Given the description of an element on the screen output the (x, y) to click on. 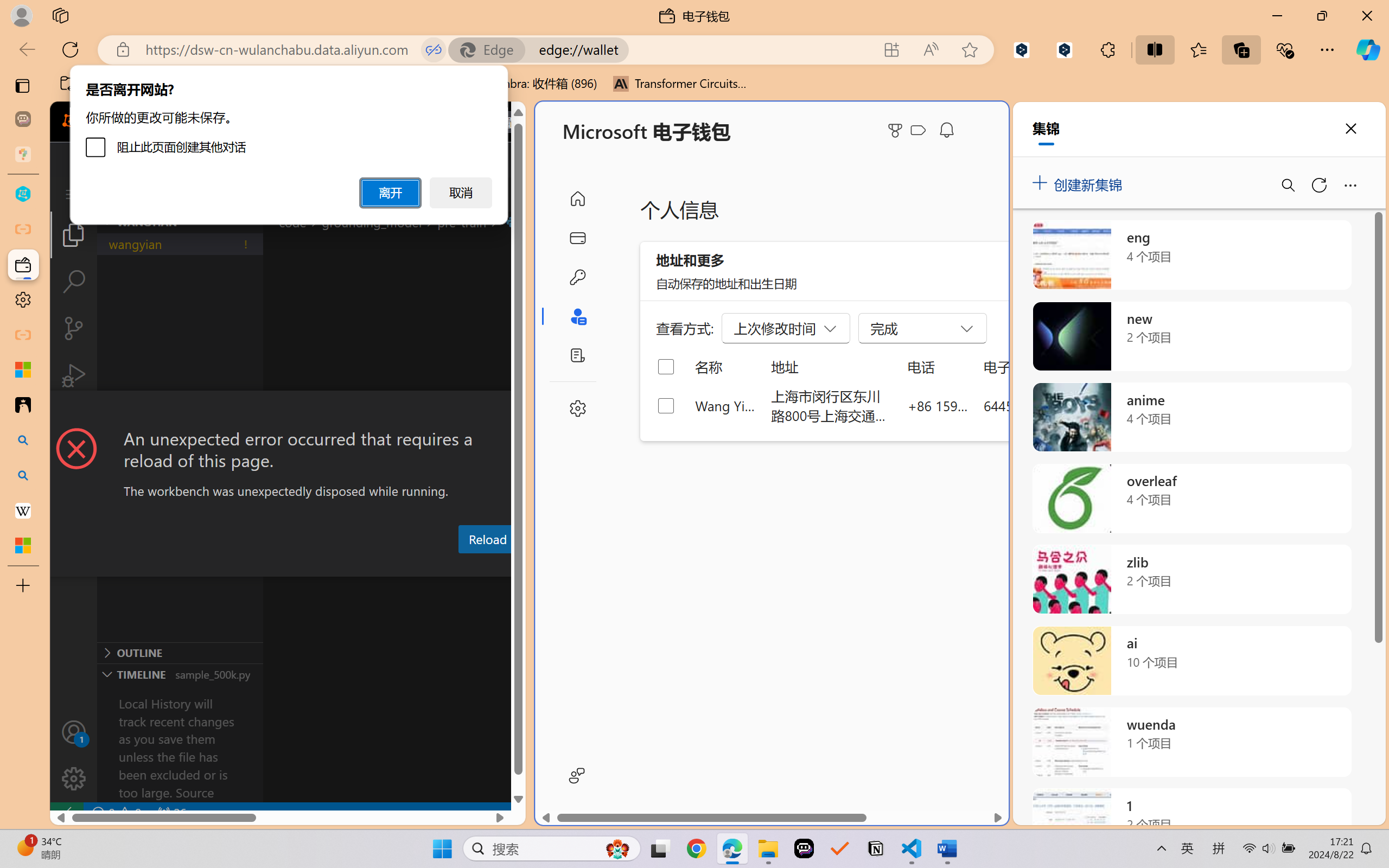
Microsoft Cashback (920, 130)
Google Chrome (696, 848)
Debug Console (Ctrl+Shift+Y) (463, 565)
Earth - Wikipedia (22, 510)
